Given the description of an element on the screen output the (x, y) to click on. 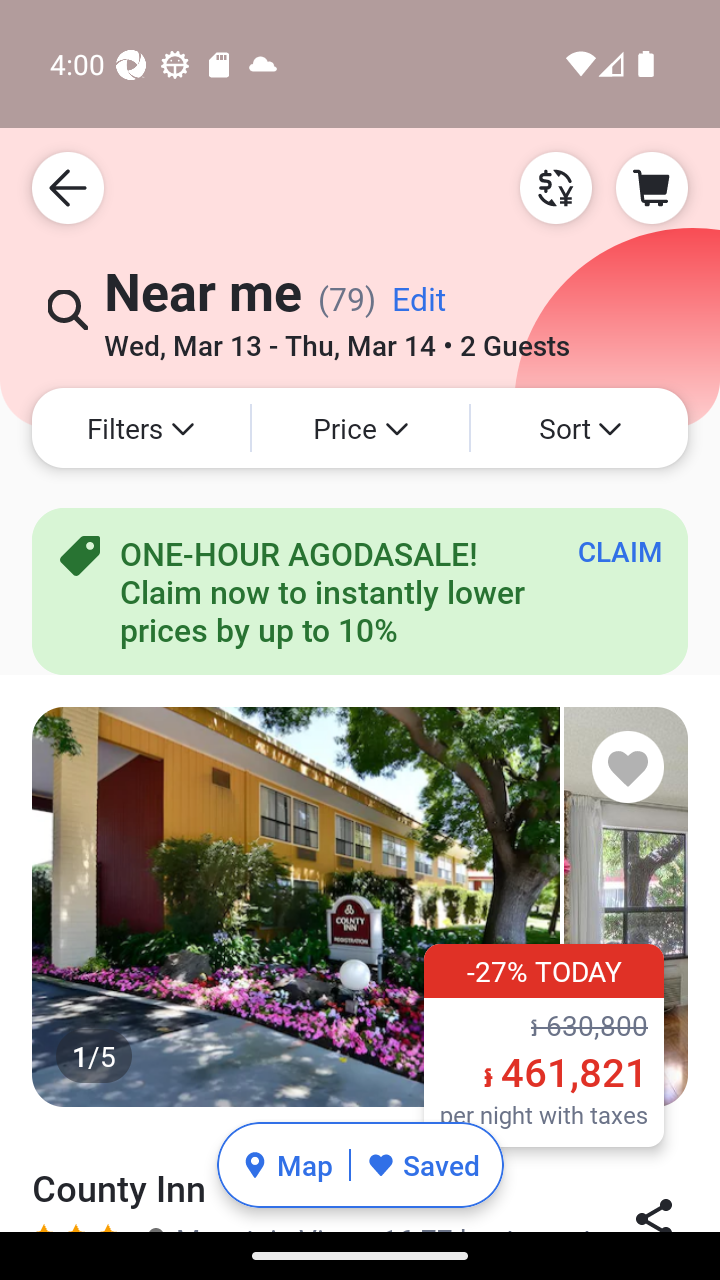
Wed, Mar 13 - Thu, Mar 14 • 2 Guests (336, 338)
Filters (140, 428)
Price (359, 428)
Sort (579, 428)
CLAIM (620, 551)
1/5 (359, 906)
Map Saved (359, 1165)
